Given the description of an element on the screen output the (x, y) to click on. 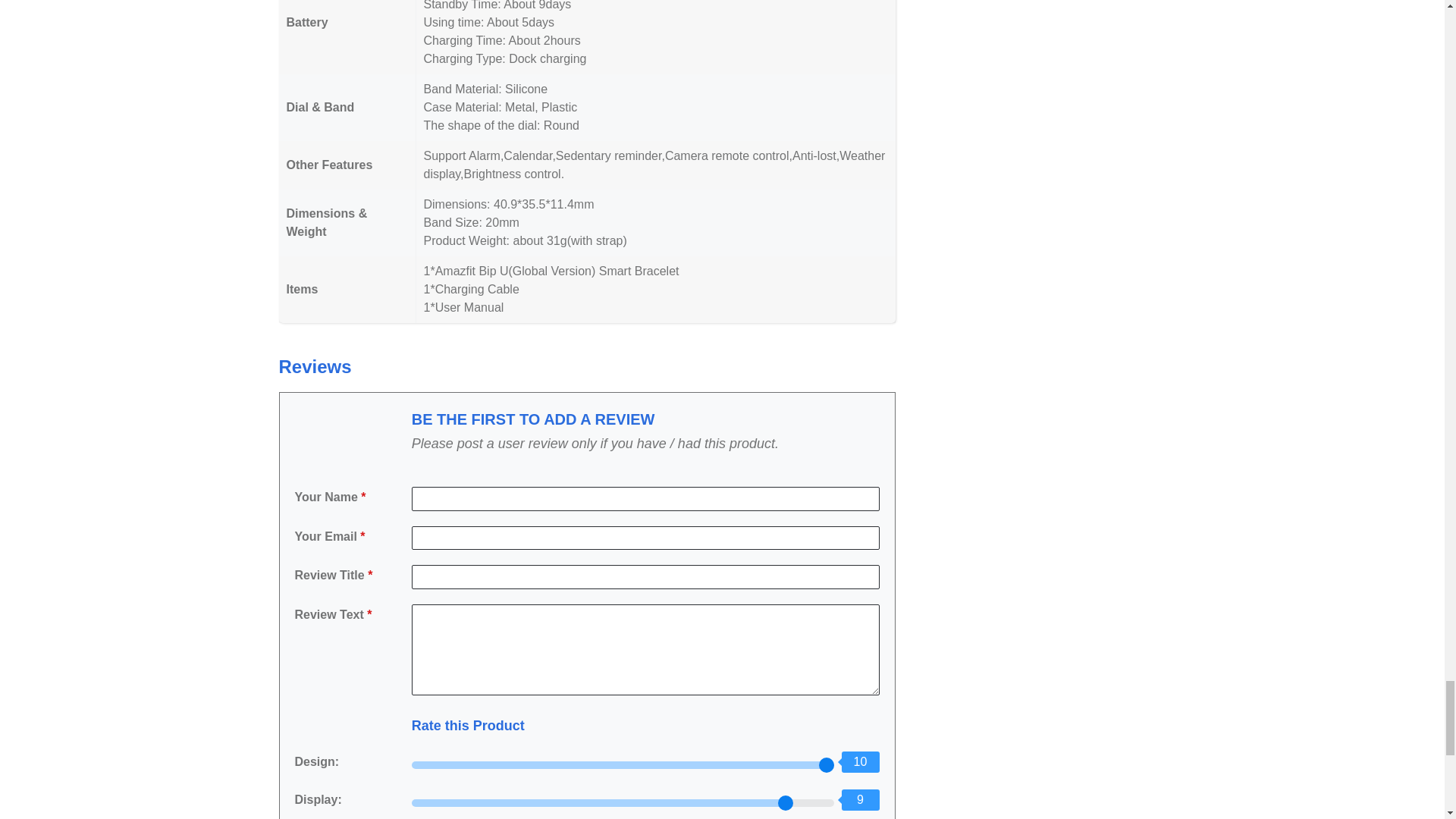
9 (623, 802)
10 (623, 765)
